Given the description of an element on the screen output the (x, y) to click on. 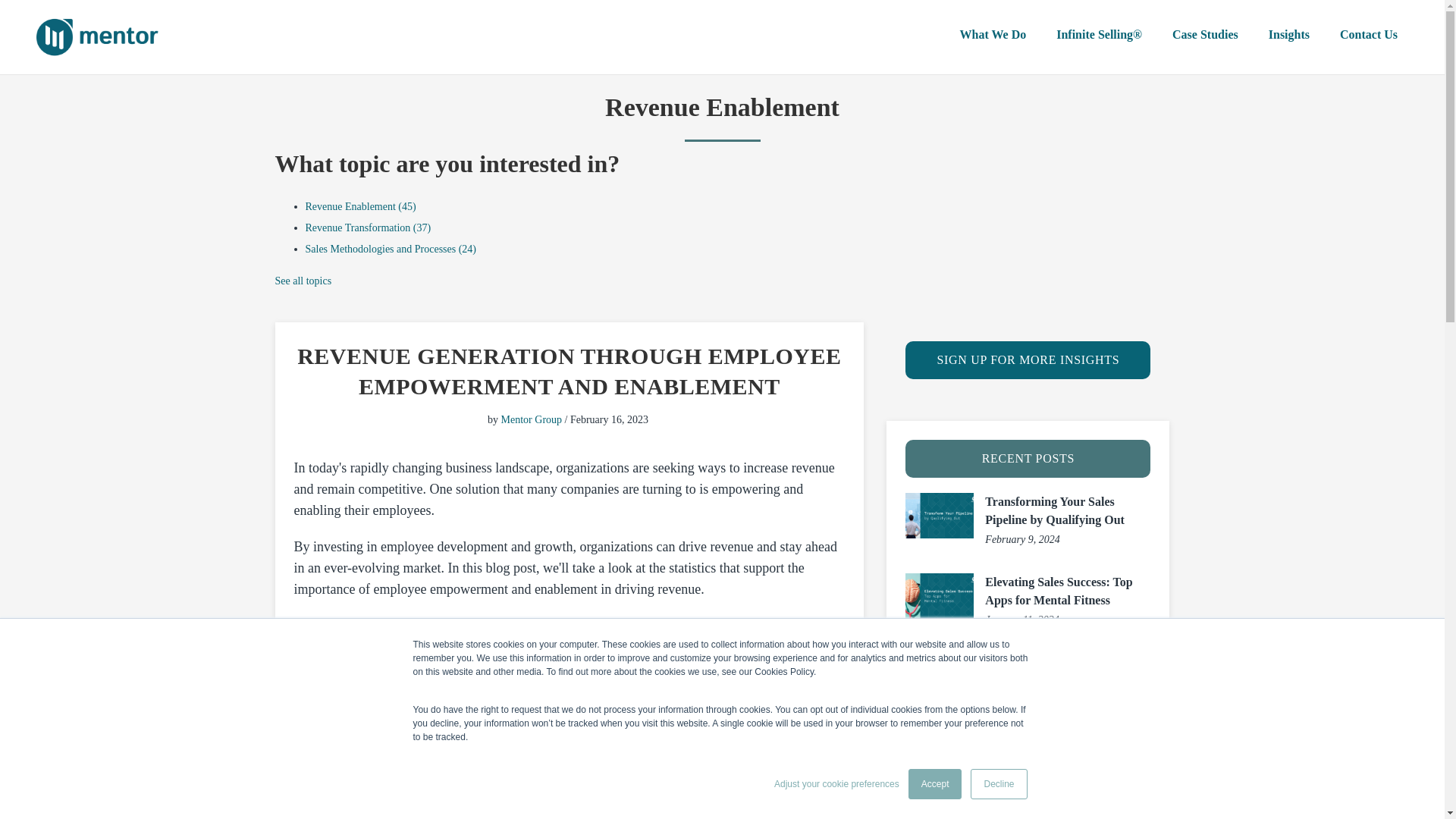
Decline (998, 784)
Who We Are (895, 34)
Case Studies (1205, 34)
Mentor Group (531, 419)
See all topics (303, 280)
Mentor 2020 Logo H-01 (98, 36)
Elevating Sales Success: Top Apps for Mental Fitness (1058, 590)
Transforming Your Sales Pipeline by Qualifying Out (1054, 510)
What We Do (992, 34)
Insights (1288, 34)
Accept (935, 784)
Contact Us (1368, 34)
Adjust your cookie preferences (836, 784)
